Given the description of an element on the screen output the (x, y) to click on. 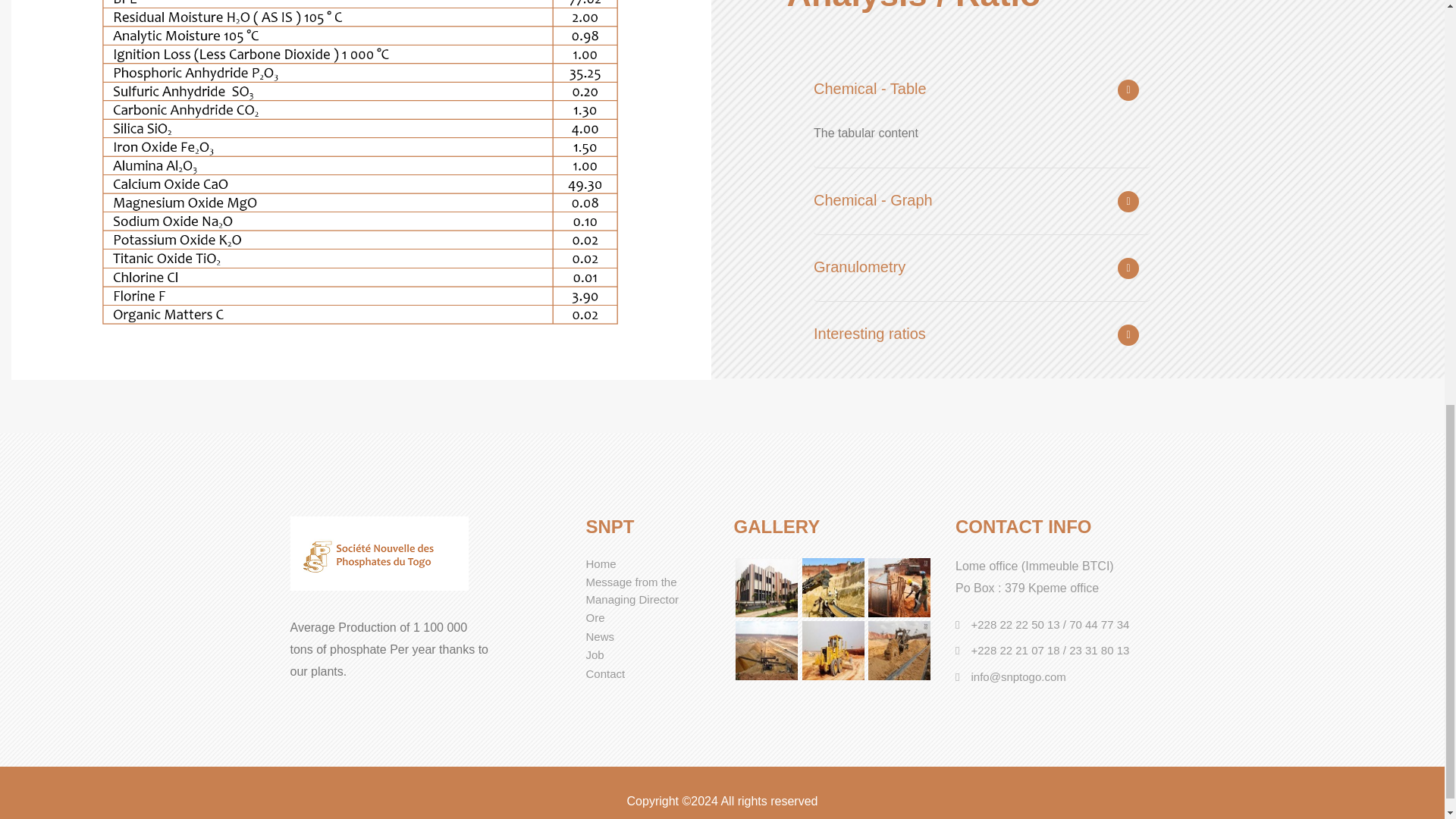
Message from the Managing Director (631, 590)
Contact (604, 673)
Home (600, 563)
News (599, 635)
Job (594, 654)
Ore (594, 617)
